Given the description of an element on the screen output the (x, y) to click on. 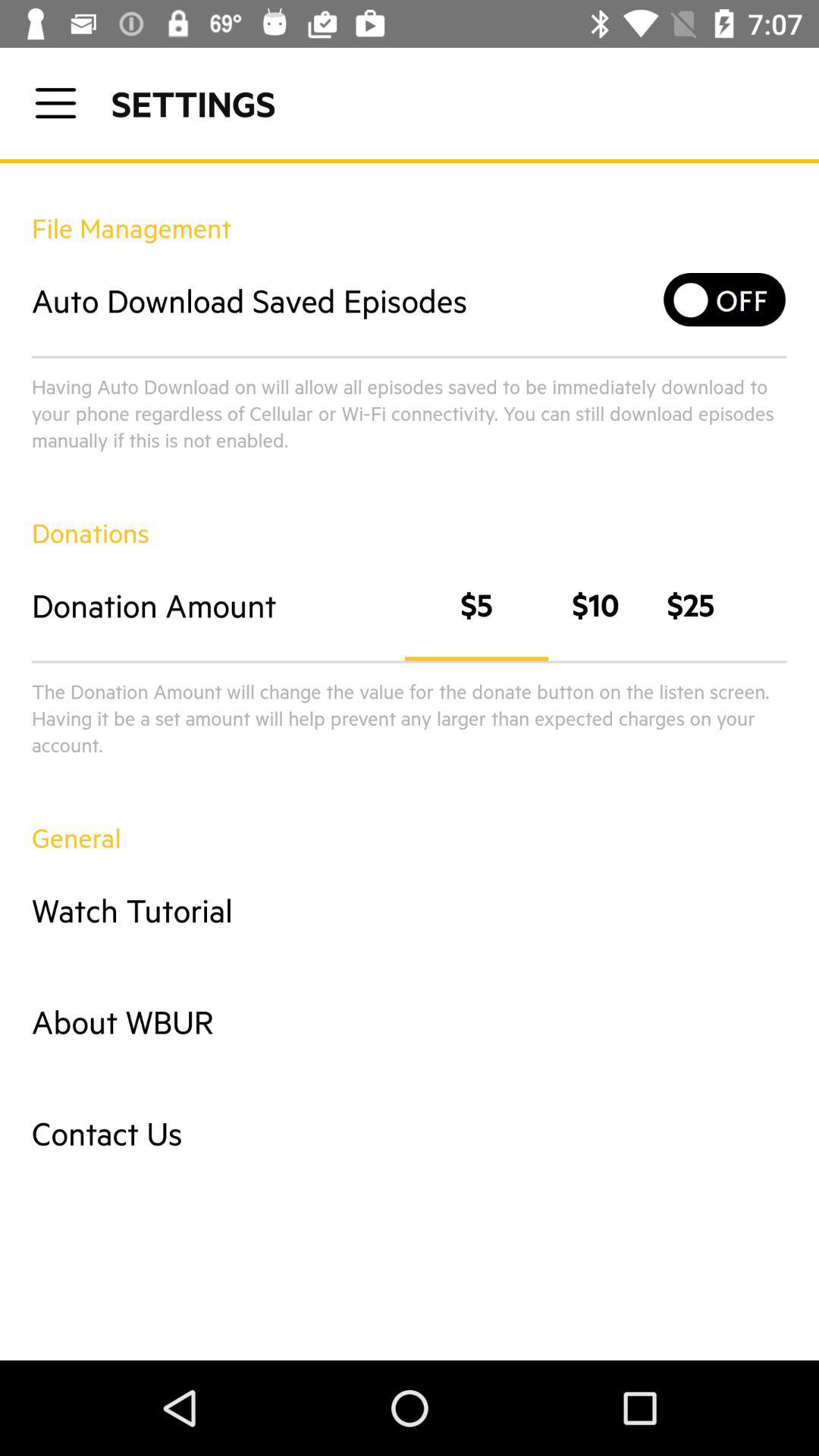
tap icon above the contact us (409, 1021)
